Given the description of an element on the screen output the (x, y) to click on. 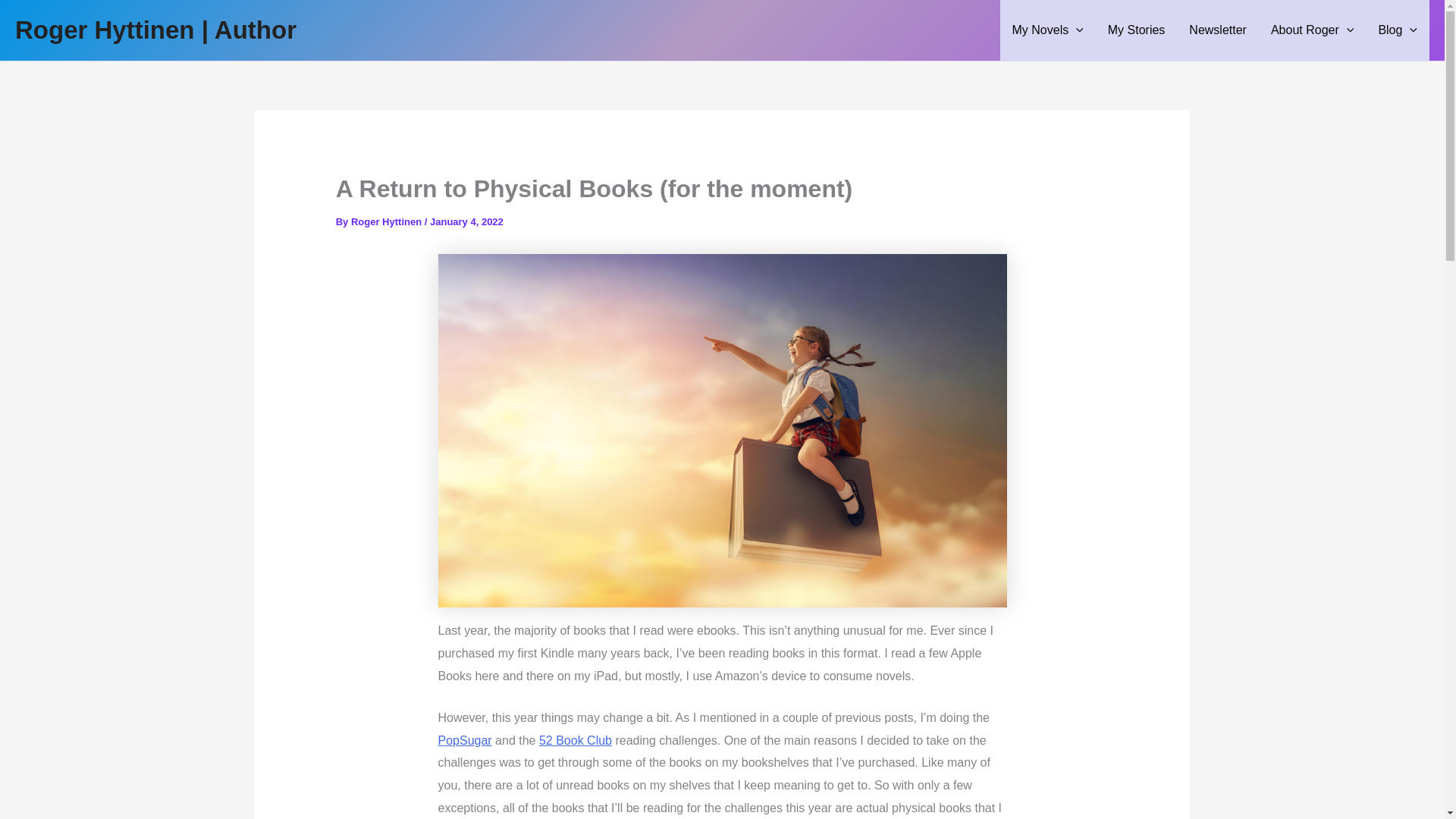
About Roger (1312, 30)
View all posts by Roger Hyttinen (387, 221)
My Novels (1046, 30)
Newsletter (1217, 30)
My Stories (1136, 30)
Blog (1397, 30)
